Given the description of an element on the screen output the (x, y) to click on. 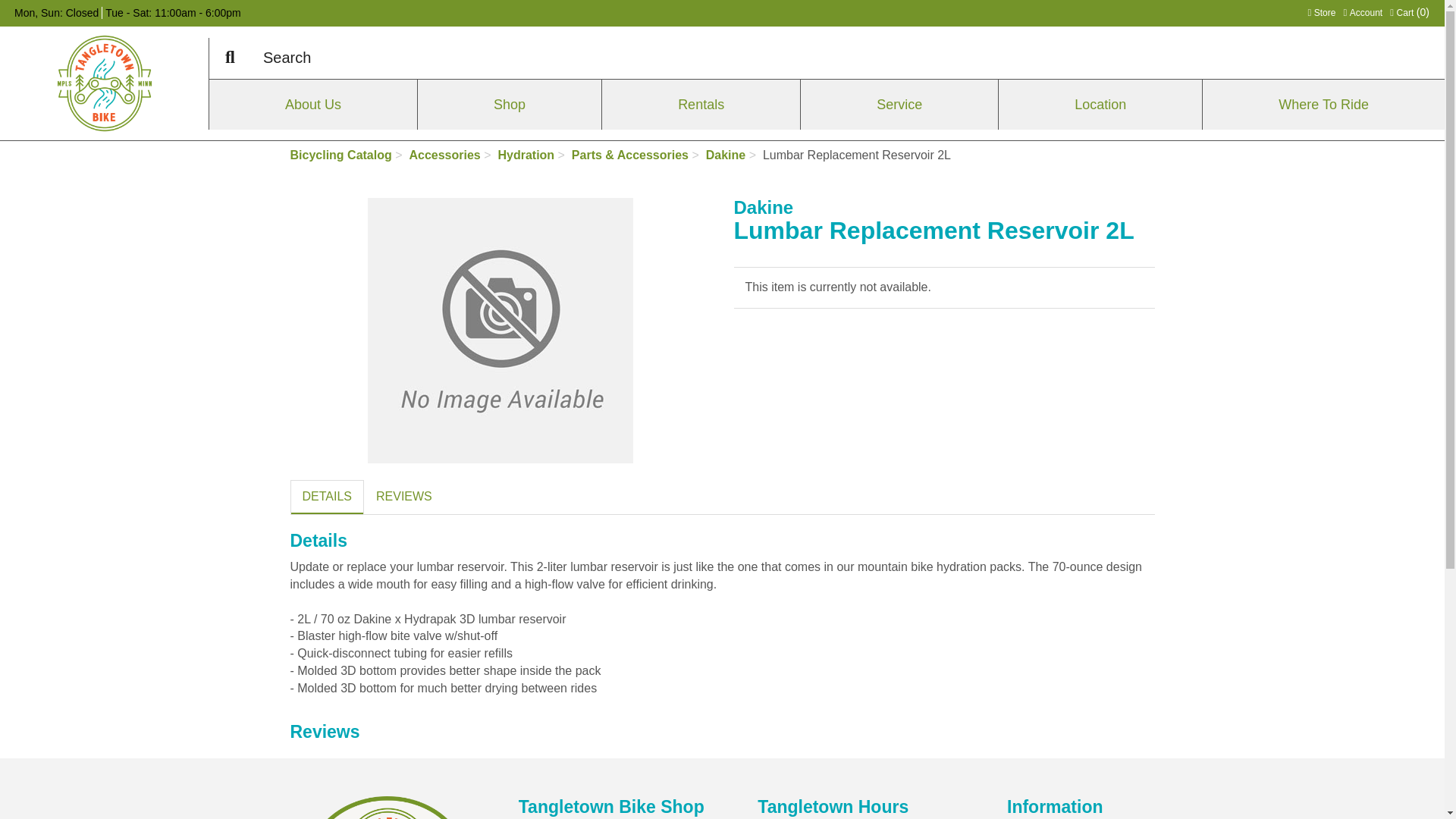
Shop (509, 103)
Account (1361, 12)
Tangletown Bike Shop Home Page (103, 83)
Search (229, 58)
Store (1321, 12)
Cart (1321, 12)
About Us (1409, 12)
